Given the description of an element on the screen output the (x, y) to click on. 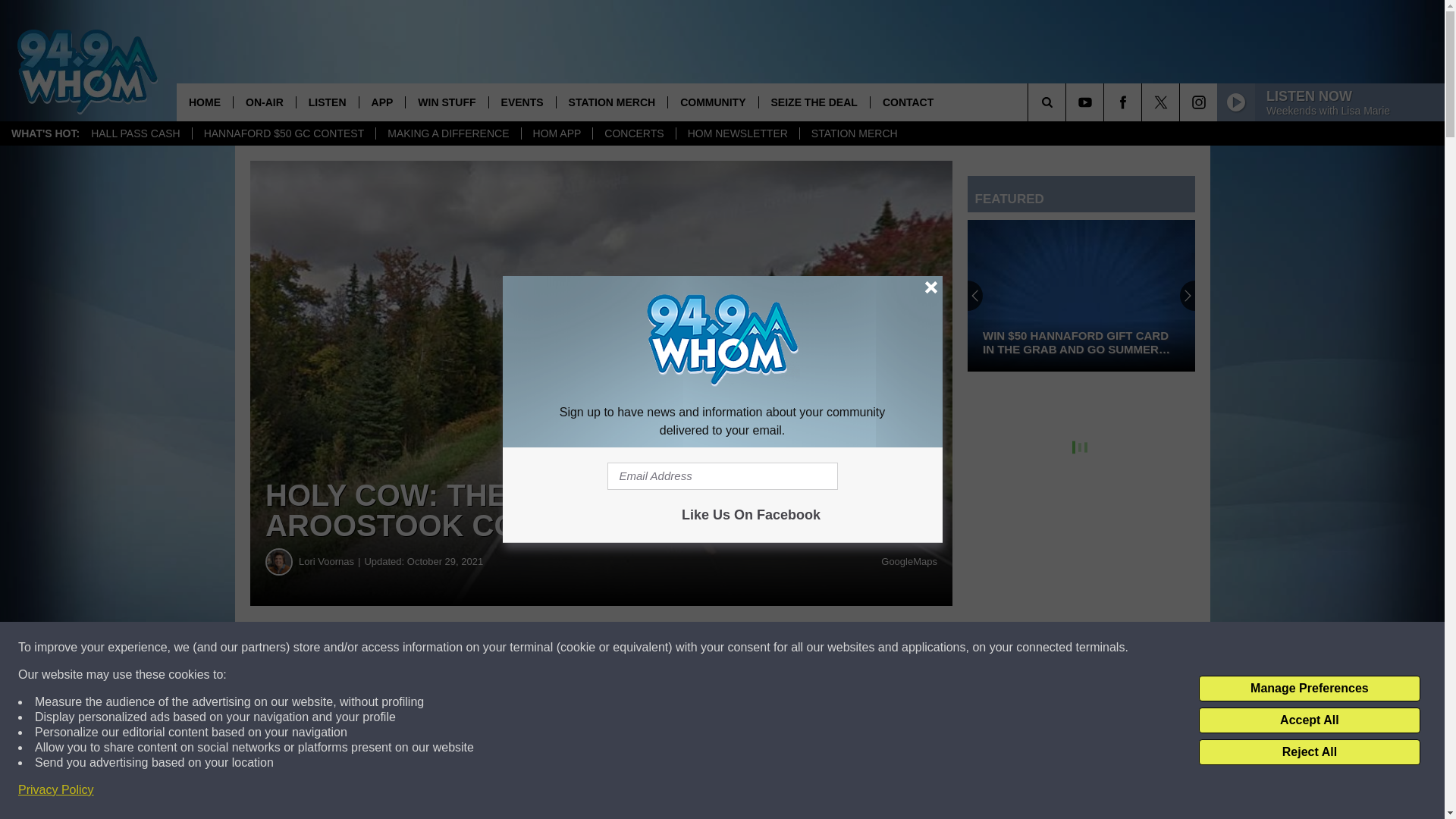
WIN STUFF (445, 102)
Email Address (722, 475)
CONCERTS (633, 133)
LISTEN (326, 102)
APP (382, 102)
HOME (204, 102)
Manage Preferences (1309, 688)
Privacy Policy (55, 789)
HOM NEWSLETTER (737, 133)
HOM APP (556, 133)
MAKING A DIFFERENCE (447, 133)
Accept All (1309, 720)
STATION MERCH (853, 133)
SEARCH (1068, 102)
Share on Twitter (741, 647)
